Given the description of an element on the screen output the (x, y) to click on. 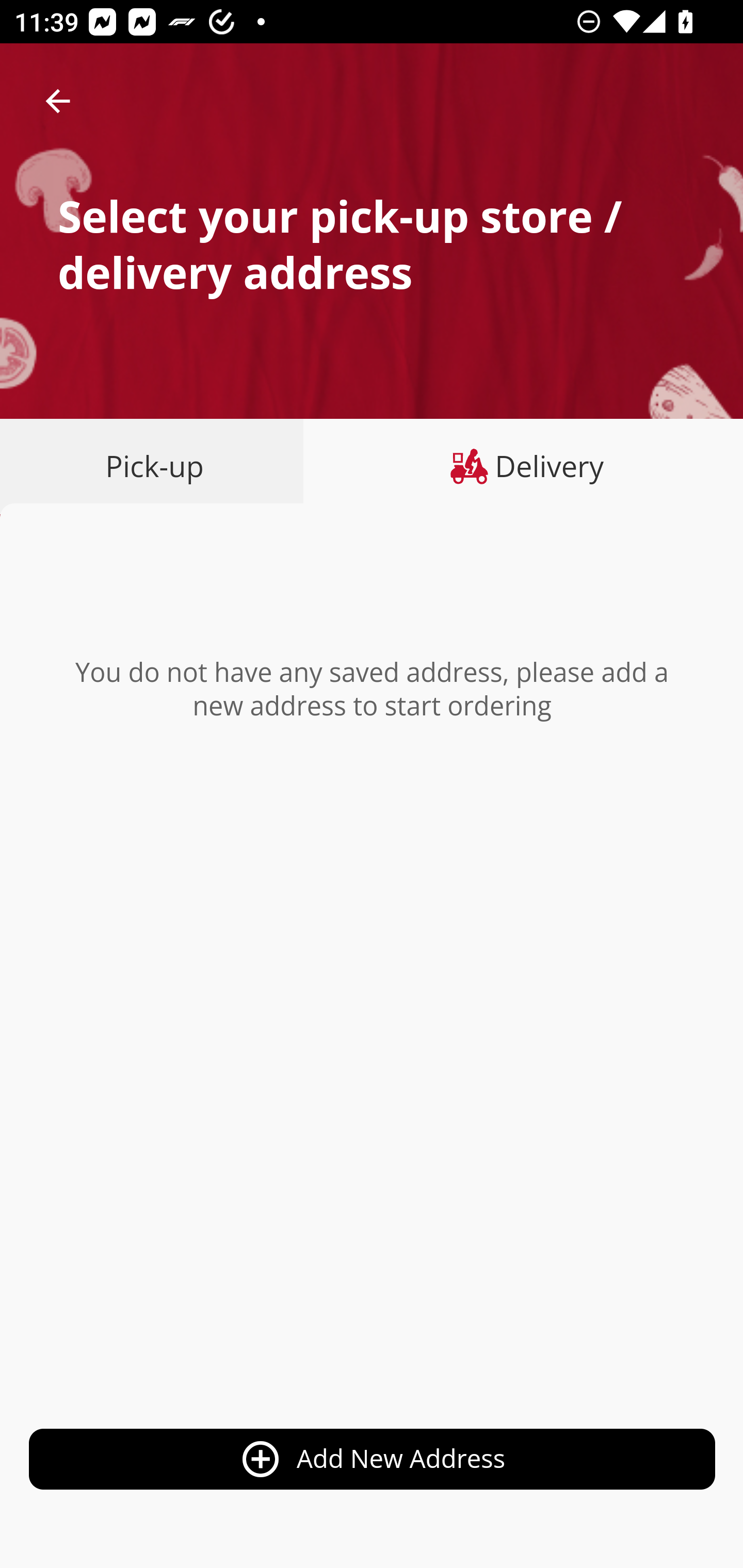
arrow_back (58, 100)
prev next Pick-up Delivery (371, 467)
Delivery (523, 466)
add_circle_outline Add New Address (372, 1459)
